Given the description of an element on the screen output the (x, y) to click on. 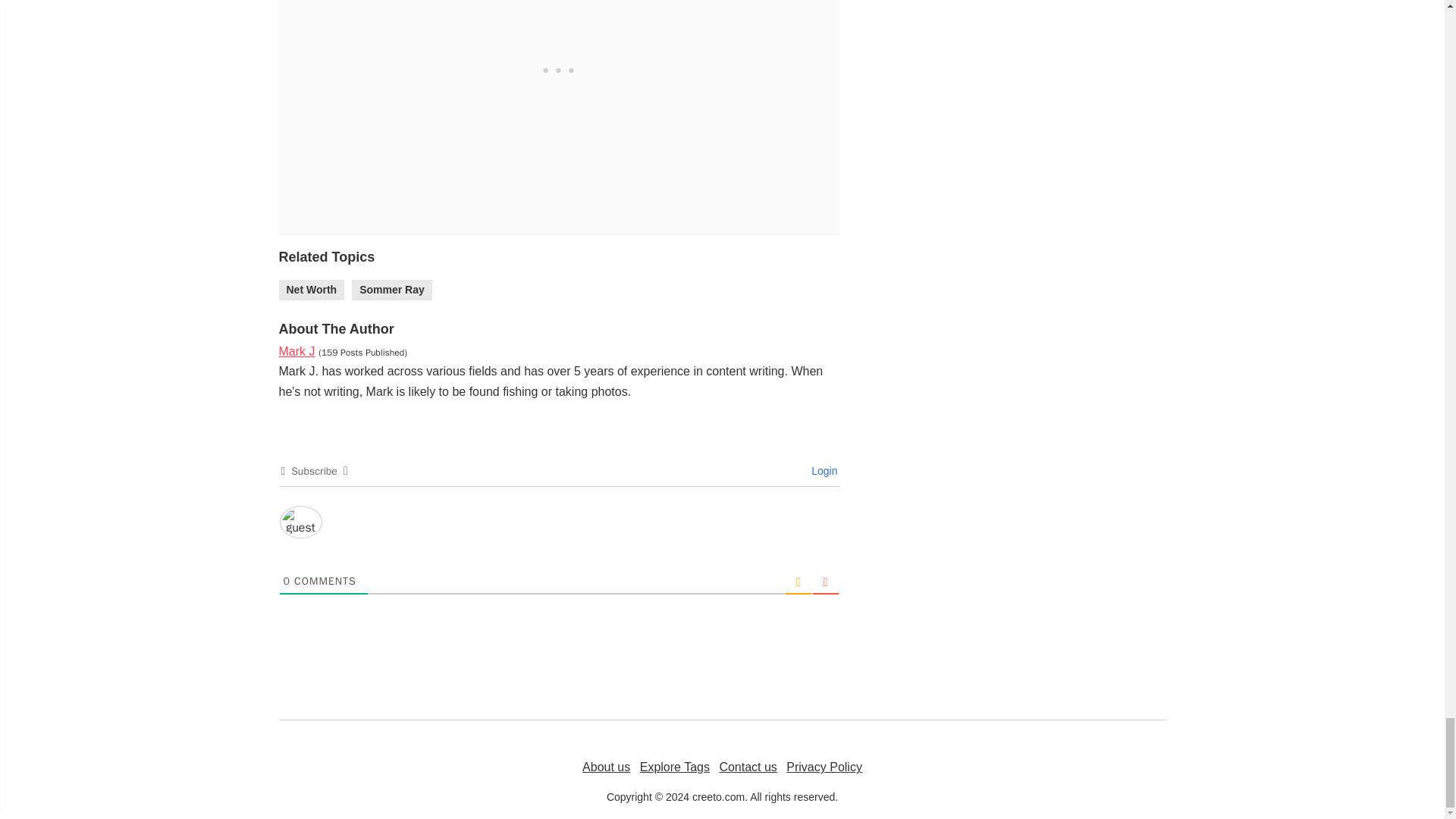
Sommer Ray (392, 290)
Net Worth (312, 290)
Login (821, 470)
Mark J (297, 350)
Posts by Mark J (297, 350)
